Given the description of an element on the screen output the (x, y) to click on. 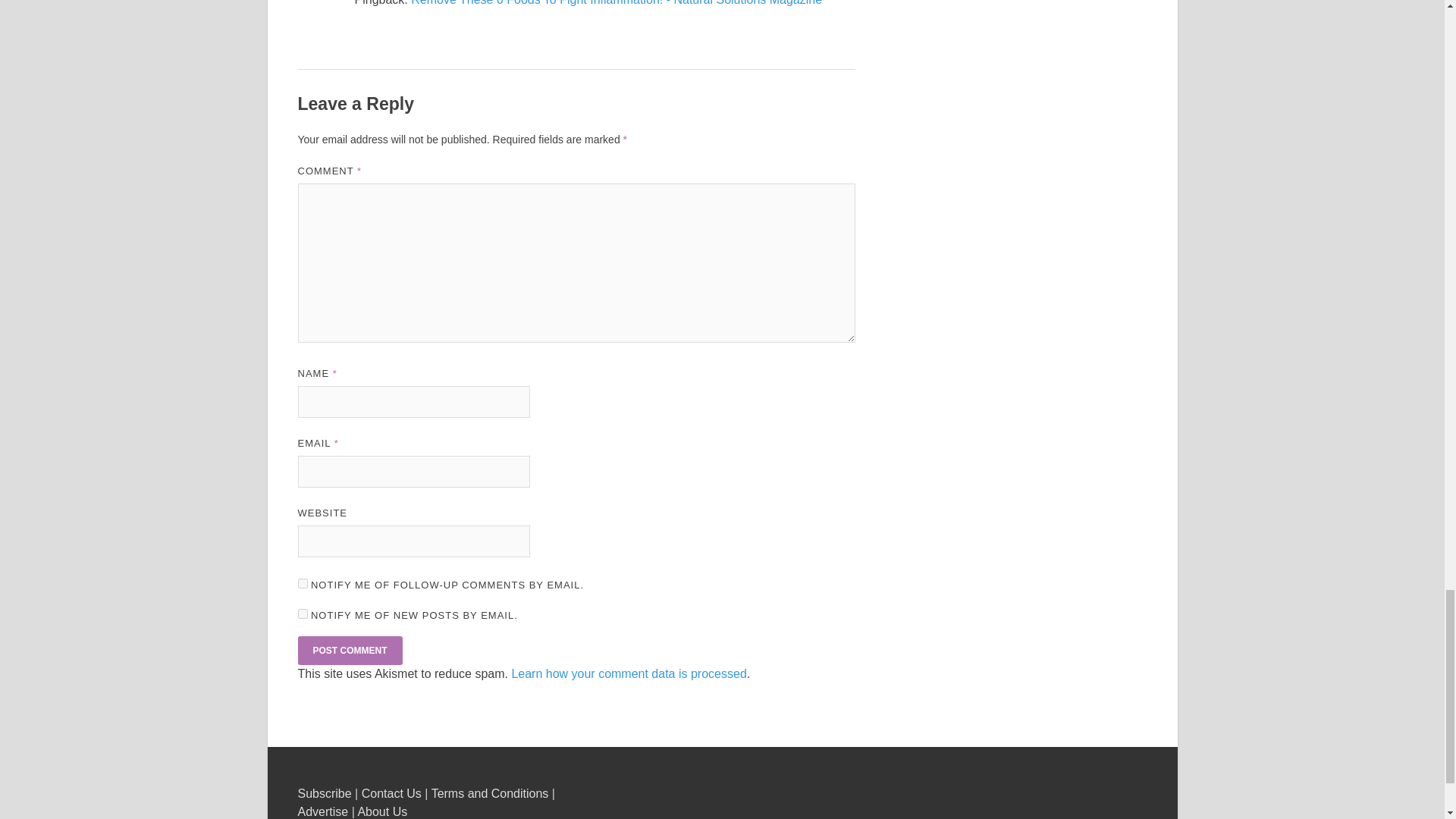
subscribe (302, 614)
subscribe (302, 583)
Post Comment (349, 650)
